Given the description of an element on the screen output the (x, y) to click on. 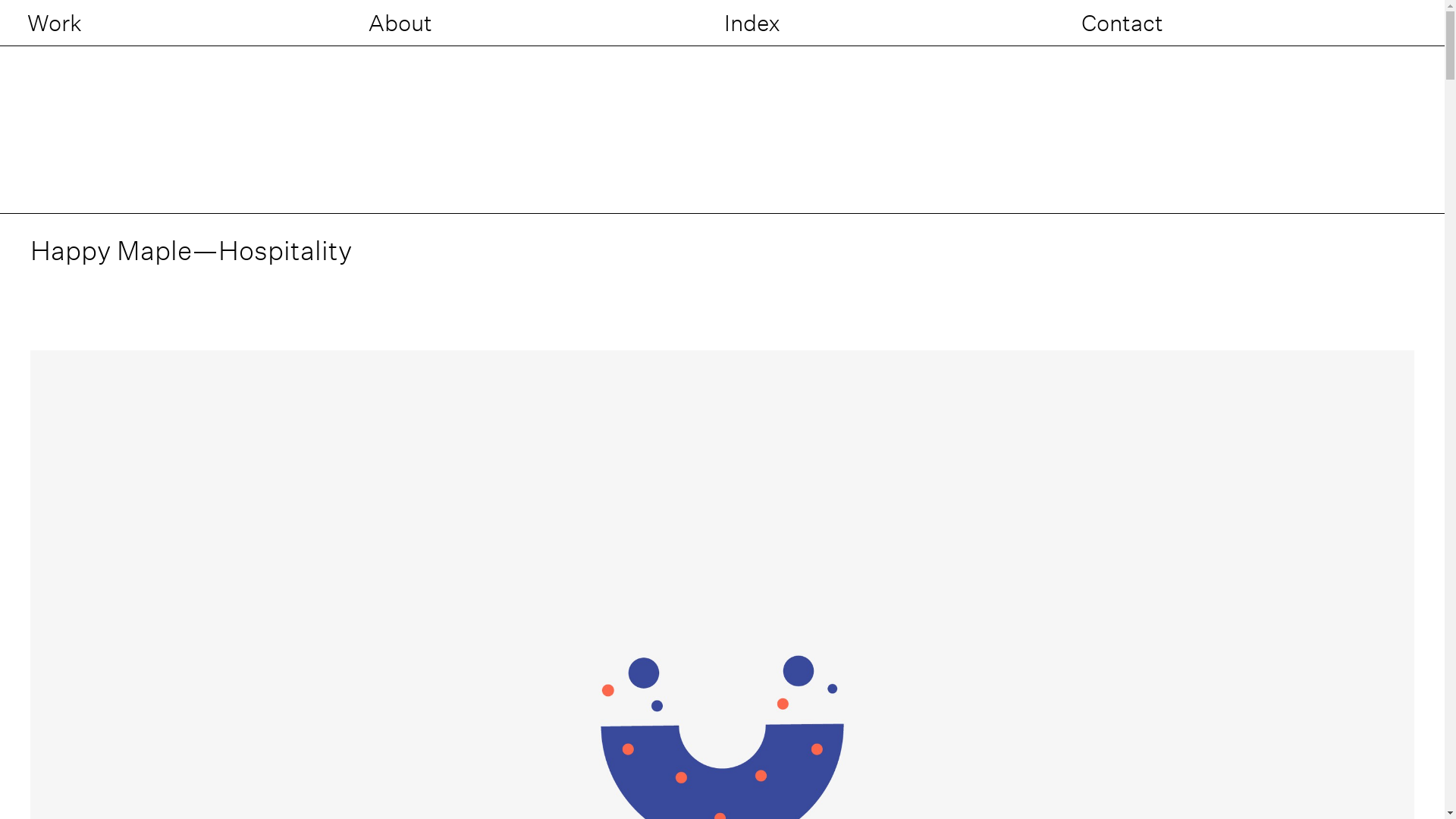
Contact Element type: text (1122, 22)
Work Element type: text (54, 22)
Hospitality Element type: text (284, 250)
About Element type: text (400, 22)
Index Element type: text (752, 22)
